Given the description of an element on the screen output the (x, y) to click on. 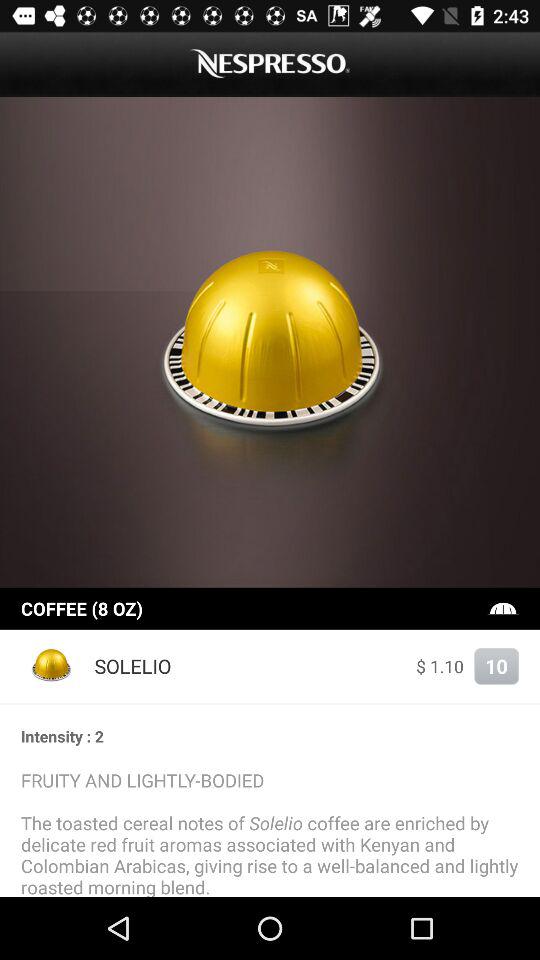
select item below coffee (8 oz) (52, 665)
